Given the description of an element on the screen output the (x, y) to click on. 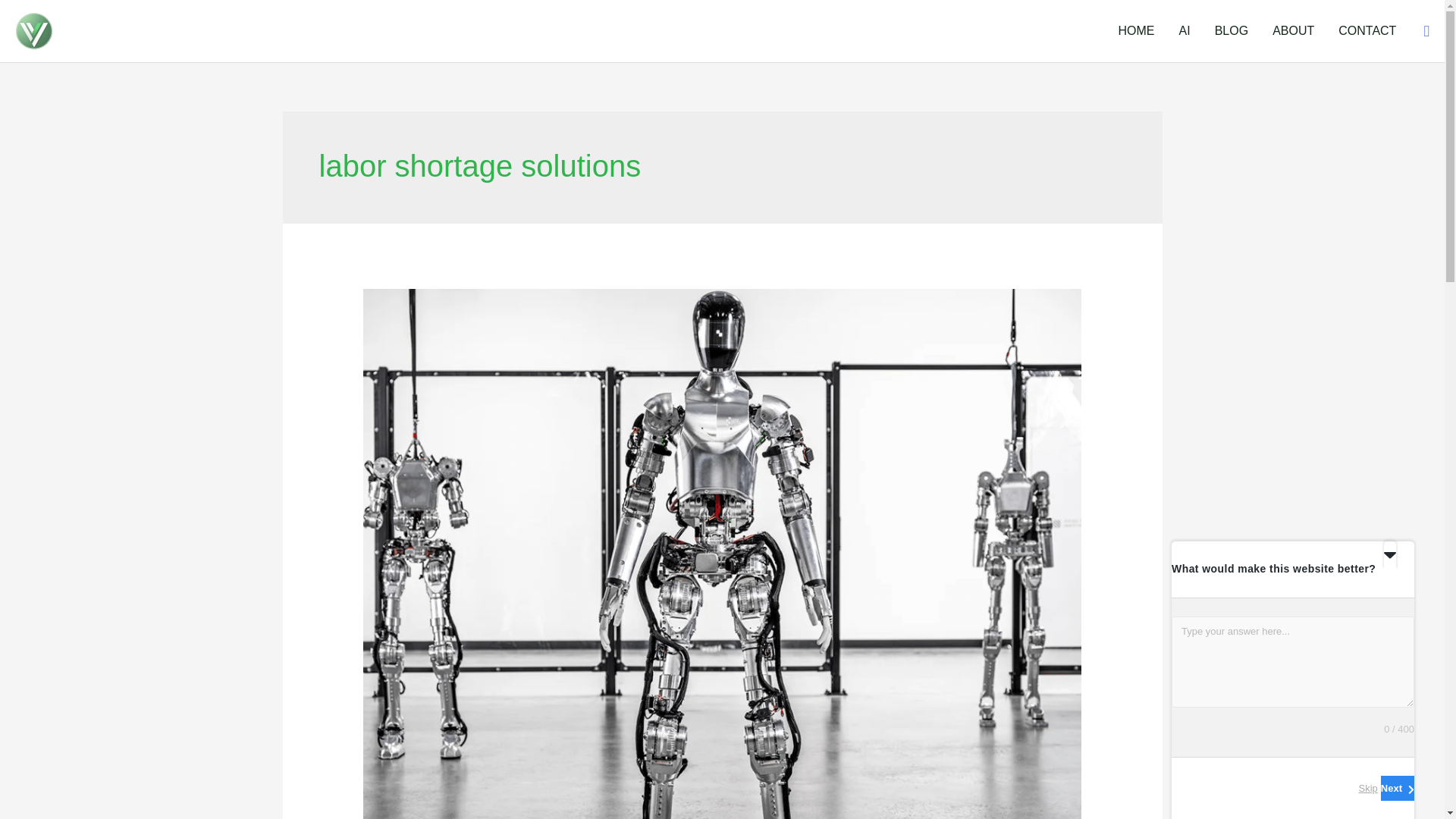
Next (1396, 787)
CONTACT (1366, 30)
AI (1184, 30)
ABOUT (1293, 30)
HOME (1136, 30)
Search (1426, 31)
BLOG (1231, 30)
Skip (1367, 787)
